Given the description of an element on the screen output the (x, y) to click on. 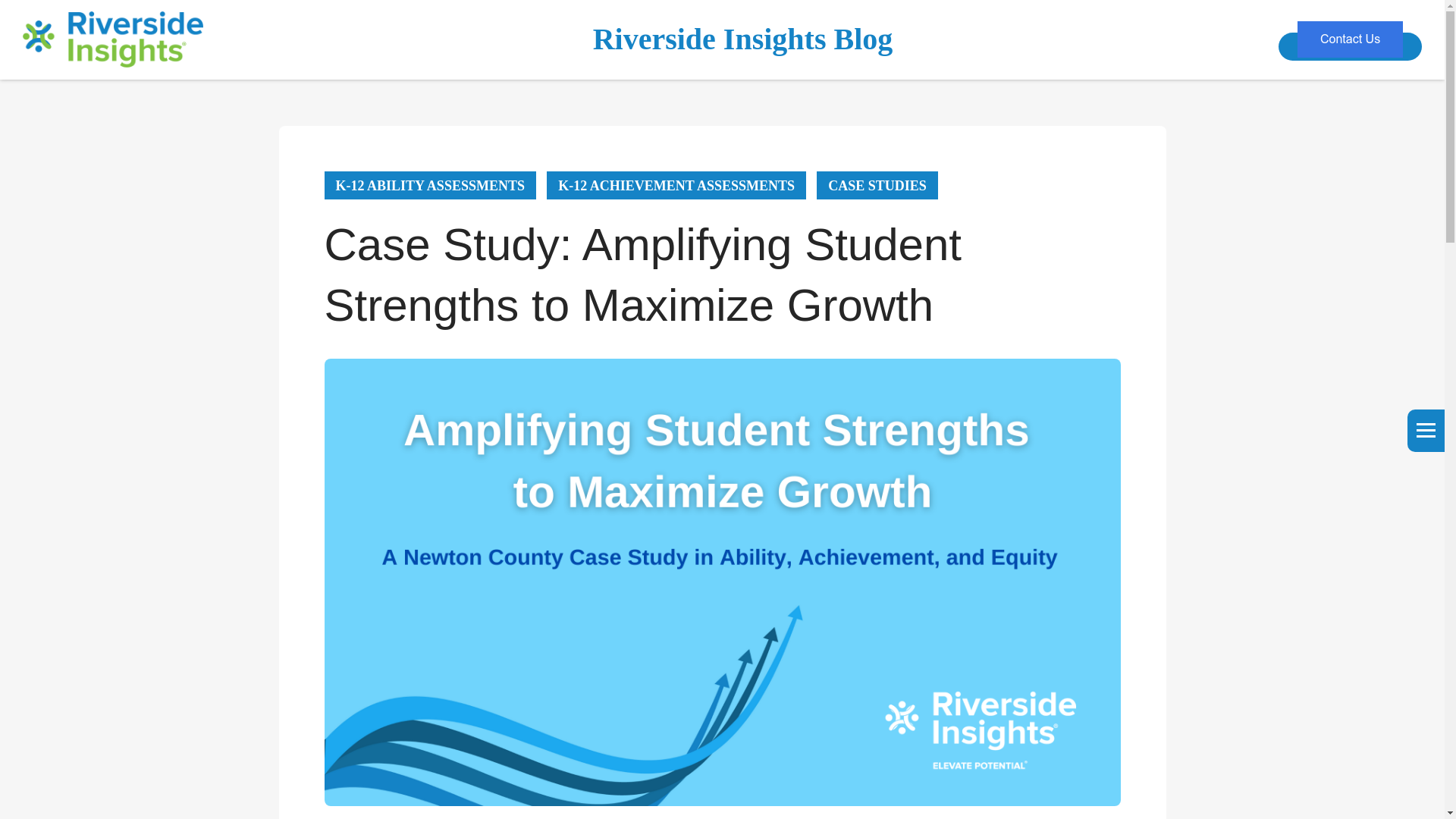
RiversideInsights.png (124, 39)
K-12 ABILITY ASSESSMENTS (429, 185)
Riverside Insights Blog (742, 39)
K-12 ACHIEVEMENT ASSESSMENTS (676, 185)
CASE STUDIES (876, 185)
